Given the description of an element on the screen output the (x, y) to click on. 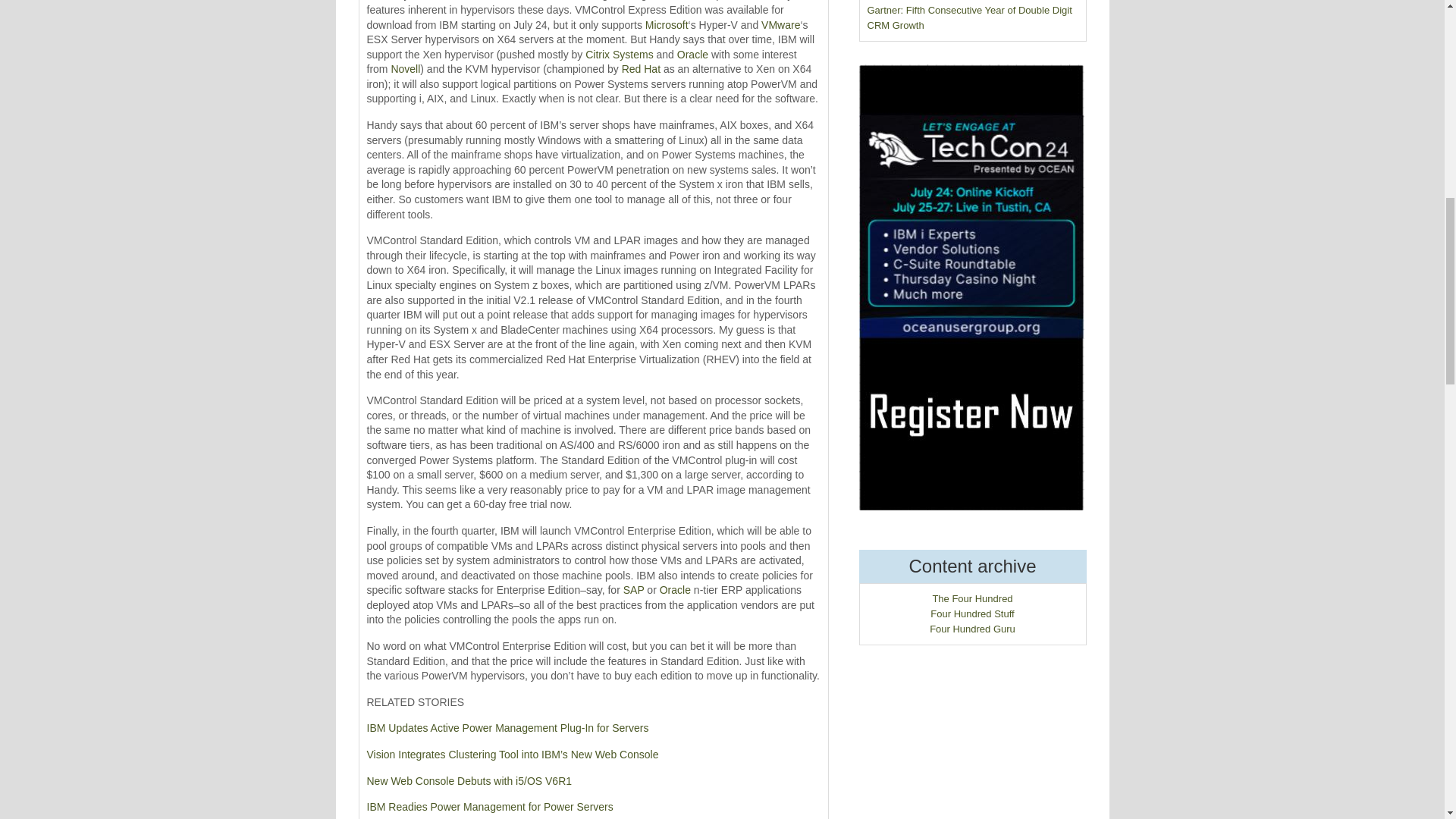
Oracle (674, 589)
SAP (634, 589)
IBM Updates Active Power Management Plug-In for Servers (507, 727)
Microsoft (666, 24)
IBM Readies Power Management for Power Servers (489, 806)
VMware (780, 24)
Red Hat (641, 69)
Novell (405, 69)
Oracle (692, 54)
Citrix Systems (618, 54)
